Given the description of an element on the screen output the (x, y) to click on. 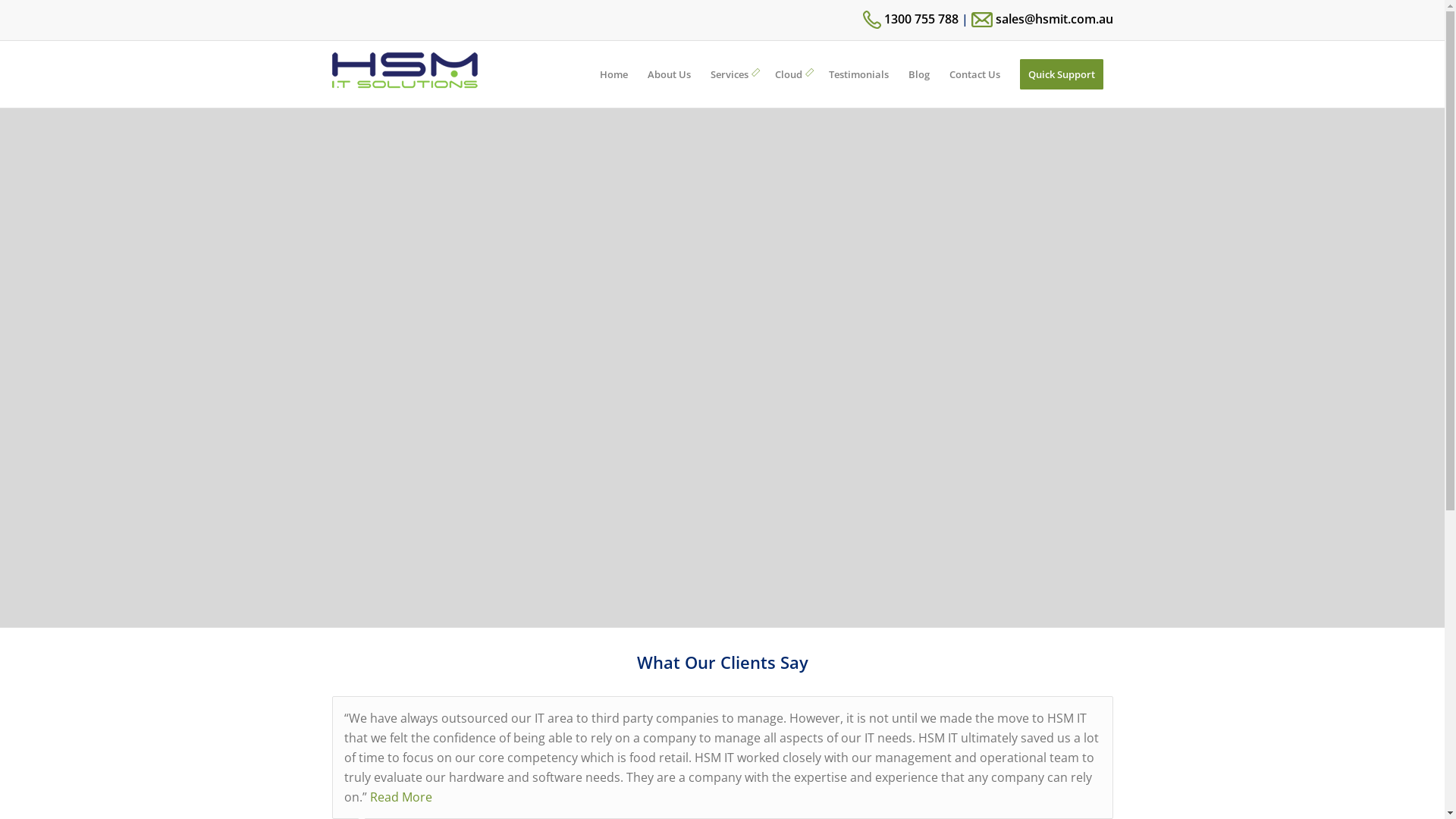
Contact Us Element type: text (973, 73)
Testimonials Element type: text (858, 73)
Read More Element type: text (401, 796)
Cloud Element type: text (792, 73)
Services Element type: text (732, 73)
Home Element type: text (613, 73)
sales@hsmit.com.au Element type: text (1042, 18)
1300 755 788 Element type: text (910, 18)
About Us Element type: text (668, 73)
Quick Support Element type: text (1061, 73)
Blog Element type: text (917, 73)
